Given the description of an element on the screen output the (x, y) to click on. 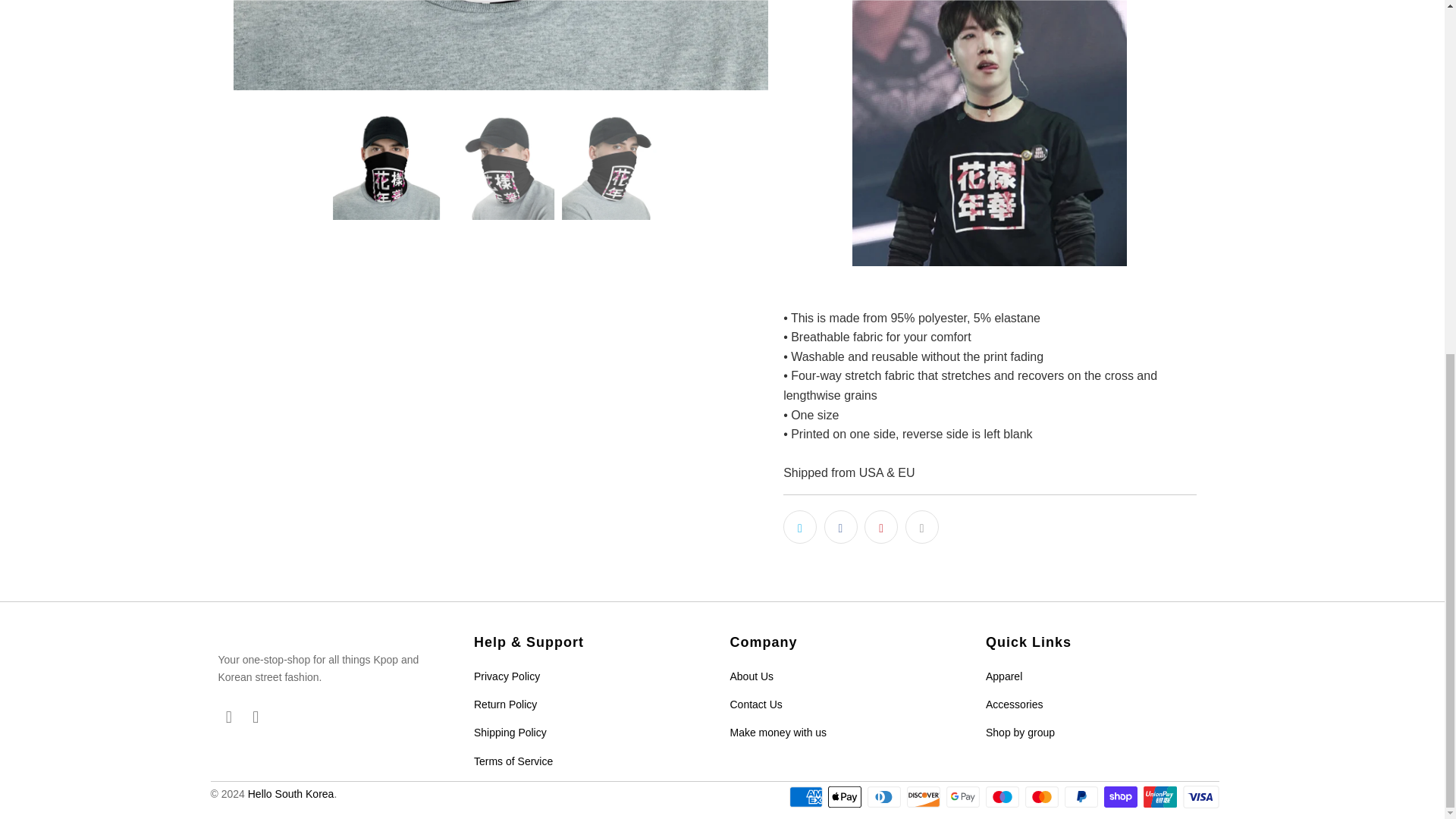
Apple Pay (846, 796)
Email this to a friend (922, 526)
Union Pay (1160, 796)
Mastercard (1043, 796)
Google Pay (964, 796)
Hello South Korea on Instagram (255, 717)
American Express (807, 796)
Hello South Korea on Facebook (229, 717)
Share this on Pinterest (881, 526)
Visa (1201, 796)
Maestro (1003, 796)
PayPal (1082, 796)
Shop Pay (1121, 796)
Share this on Facebook (840, 526)
Diners Club (885, 796)
